Given the description of an element on the screen output the (x, y) to click on. 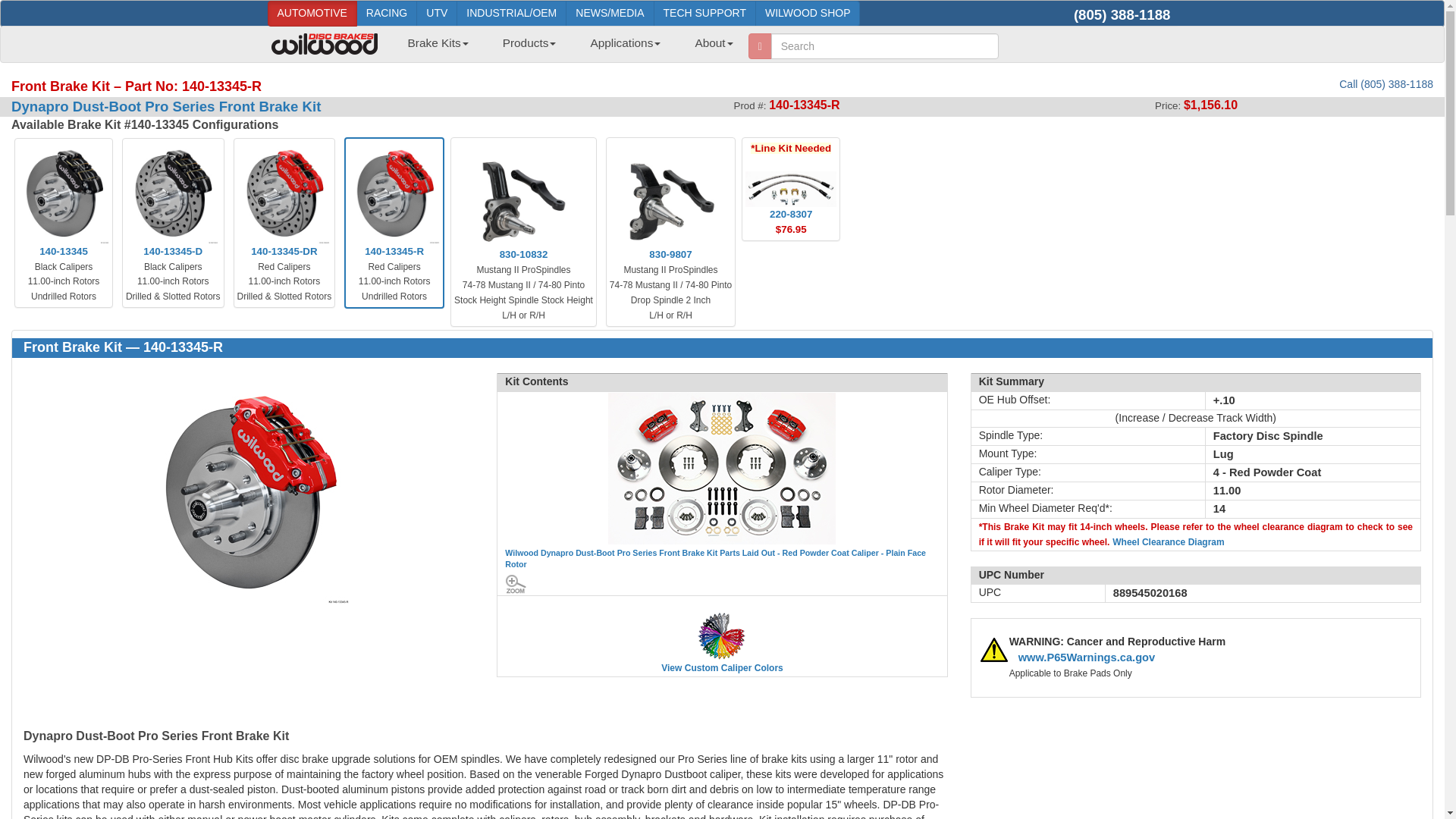
UTV (436, 13)
RACING (386, 13)
Applications (624, 47)
AUTOMOTIVE (311, 13)
TECH SUPPORT (704, 13)
Brake Kits (437, 47)
WILWOOD SHOP (807, 13)
Products (529, 47)
